Given the description of an element on the screen output the (x, y) to click on. 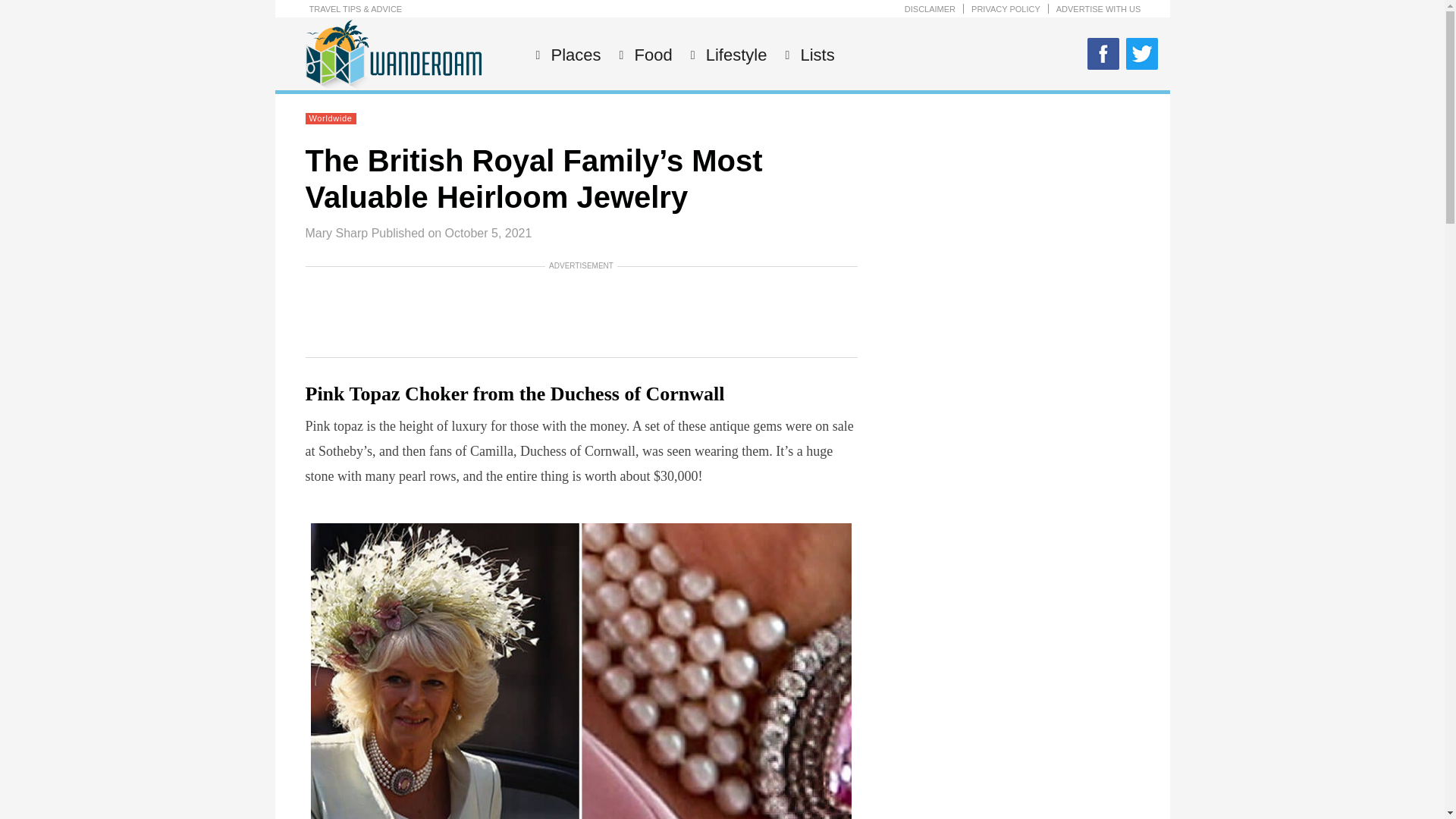
Food (651, 55)
Lists (815, 55)
Places (574, 55)
PRIVACY POLICY (1006, 8)
Worldwide (330, 117)
Mary Sharp (336, 232)
Lifestyle (734, 55)
ADVERTISE WITH US (1099, 8)
DISCLAIMER (929, 8)
Wanderoam (392, 87)
